Given the description of an element on the screen output the (x, y) to click on. 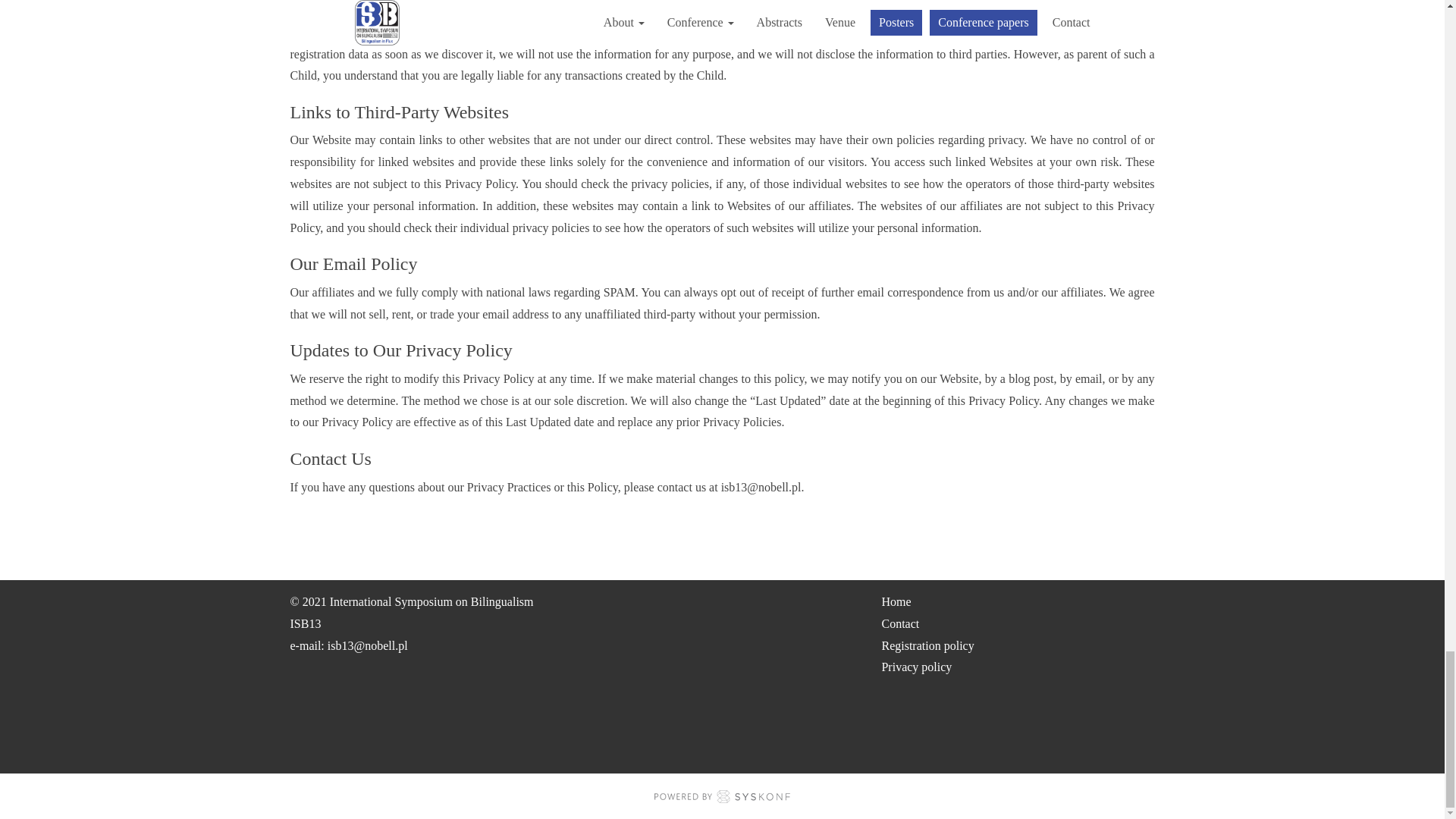
Privacy policy (916, 666)
Online Event Registration and Management System (722, 796)
Home (895, 601)
Registration policy (927, 645)
Contact (899, 623)
